Given the description of an element on the screen output the (x, y) to click on. 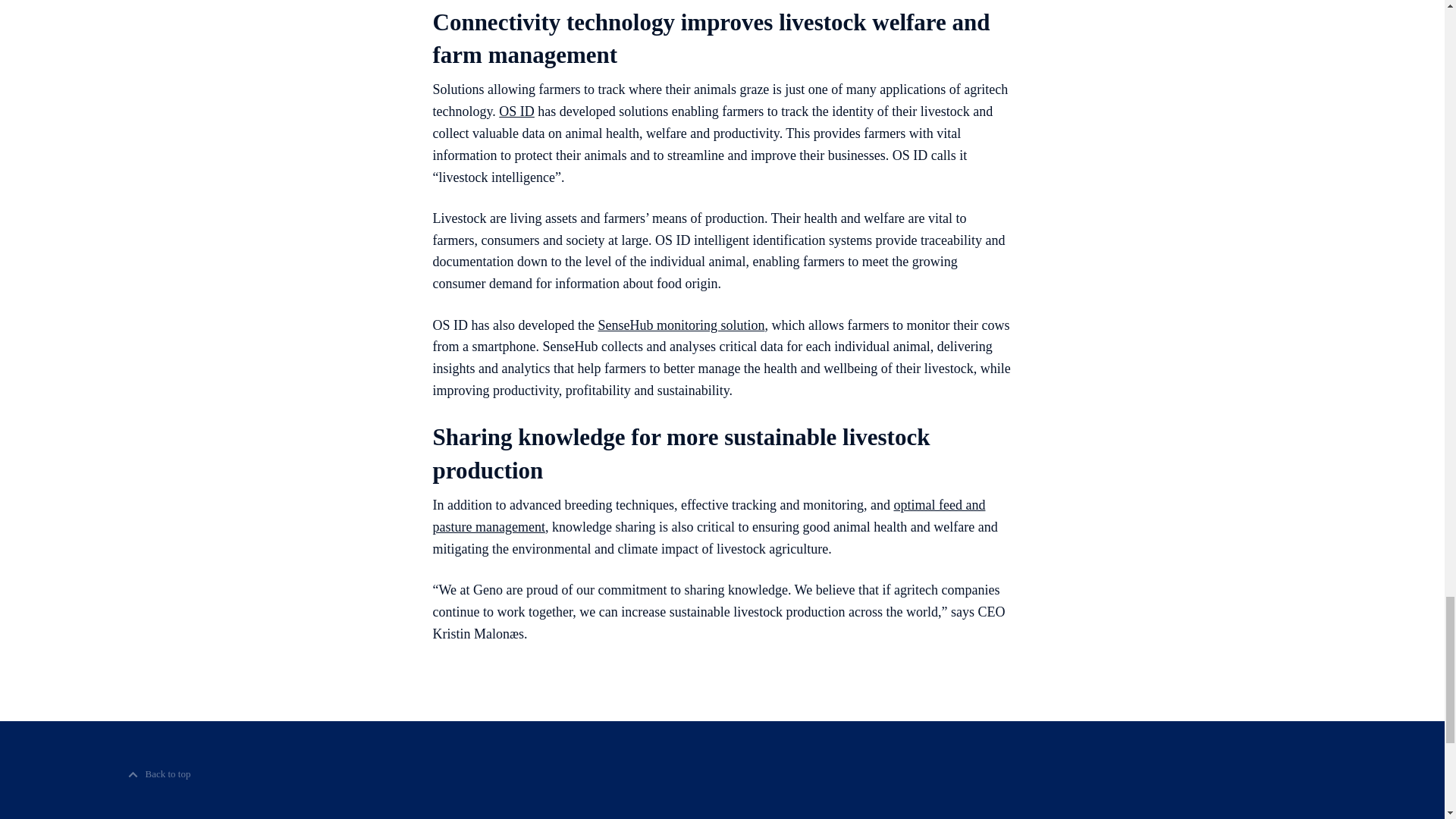
OS ID (516, 111)
SenseHub monitoring solution (680, 324)
optimal feed and pasture management (708, 515)
Back to top (159, 774)
